Given the description of an element on the screen output the (x, y) to click on. 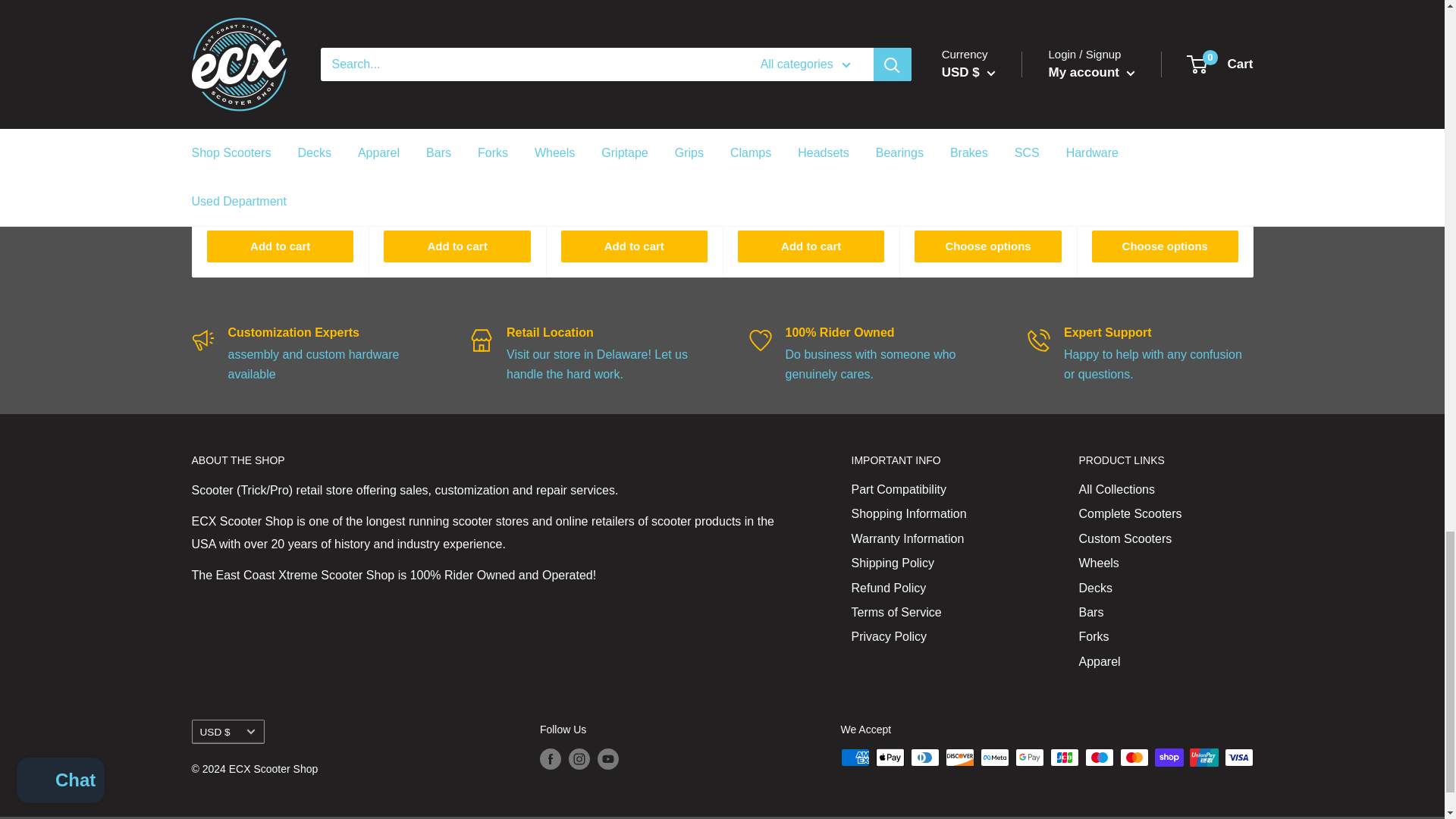
Grey (946, 194)
Black (1101, 194)
Blue (1123, 194)
Black (924, 194)
